Given the description of an element on the screen output the (x, y) to click on. 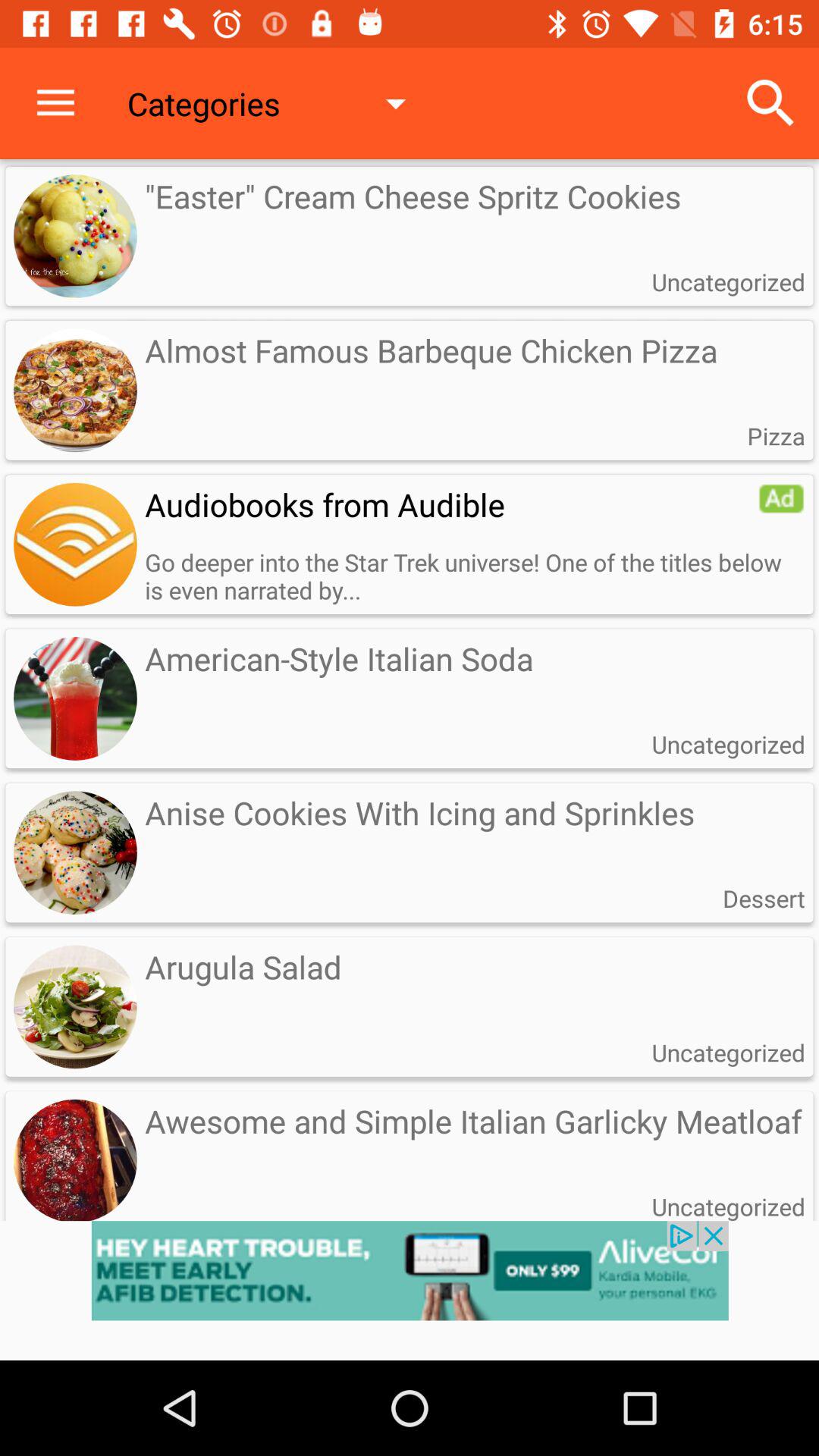
picture display (75, 544)
